Given the description of an element on the screen output the (x, y) to click on. 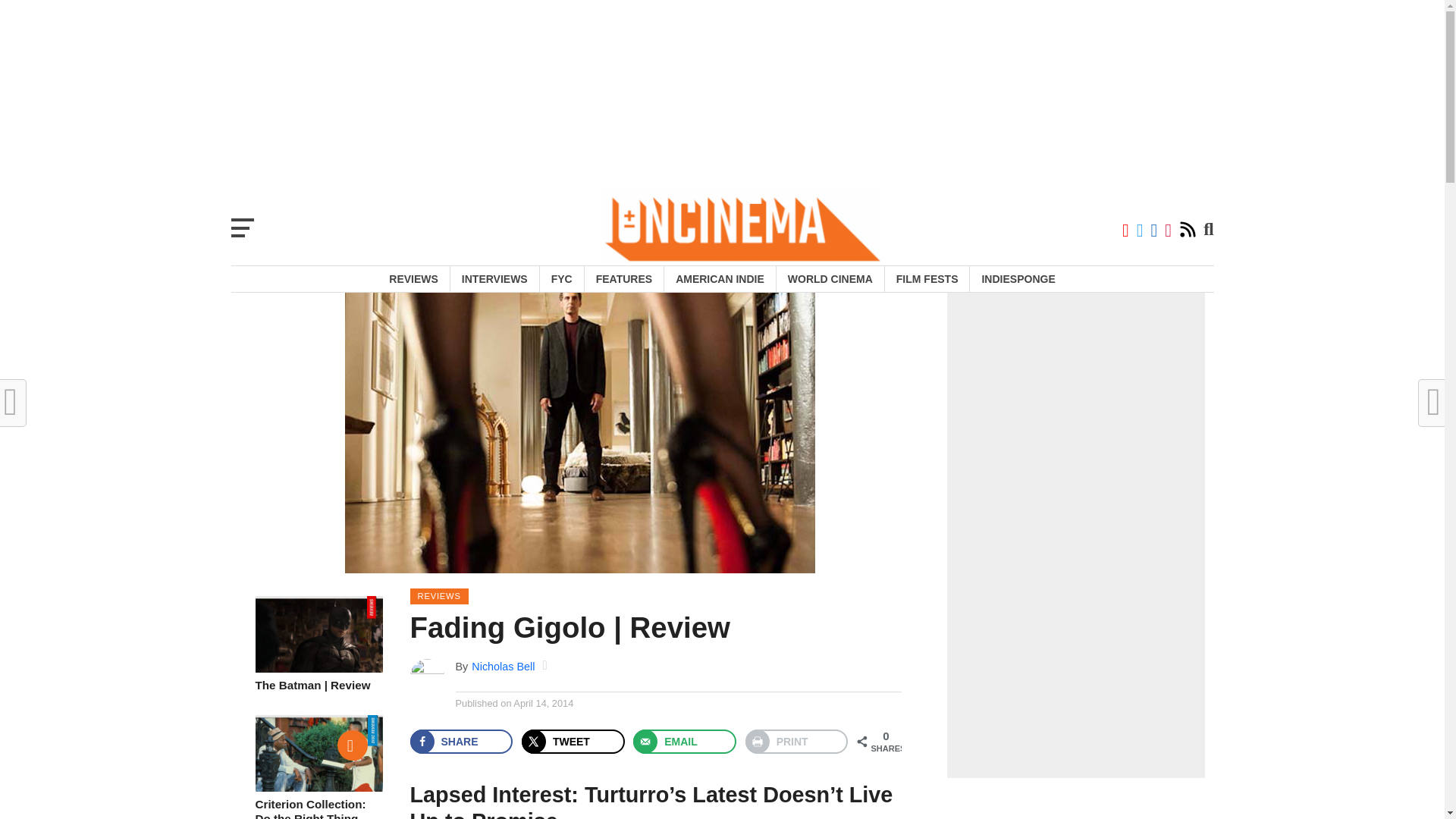
Send over email (684, 741)
FILM FESTS (926, 278)
FEATURES (623, 278)
Posts by Nicholas Bell (502, 666)
INTERVIEWS (493, 278)
Print this webpage (796, 741)
Share on Facebook (460, 741)
SHARE (460, 741)
Nicholas Bell (502, 666)
REVIEWS (413, 278)
WORLD CINEMA (829, 278)
Share on X (572, 741)
FYC (560, 278)
AMERICAN INDIE (719, 278)
INDIESPONGE (1017, 278)
